Given the description of an element on the screen output the (x, y) to click on. 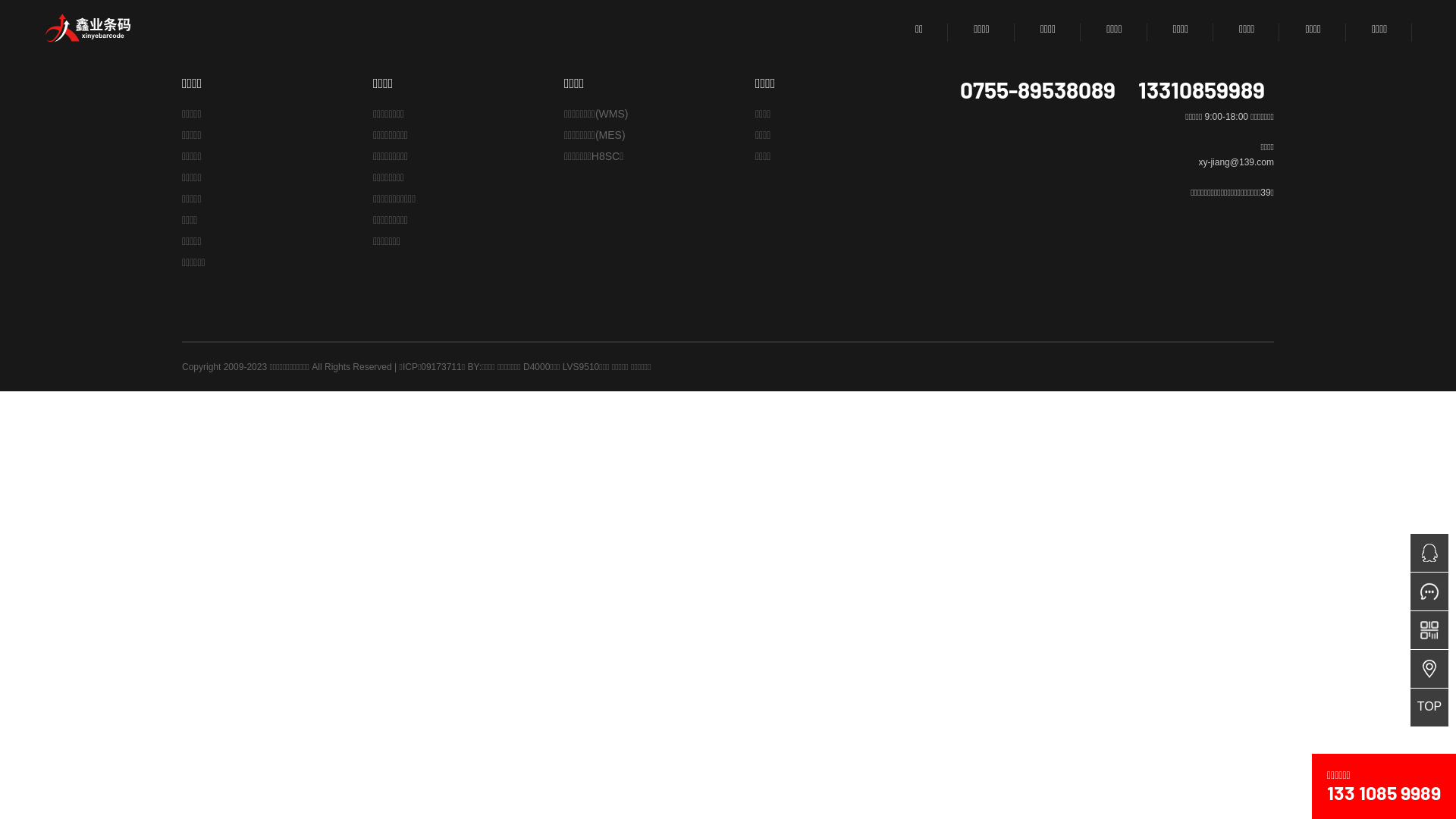
TOP Element type: text (1429, 707)
